Given the description of an element on the screen output the (x, y) to click on. 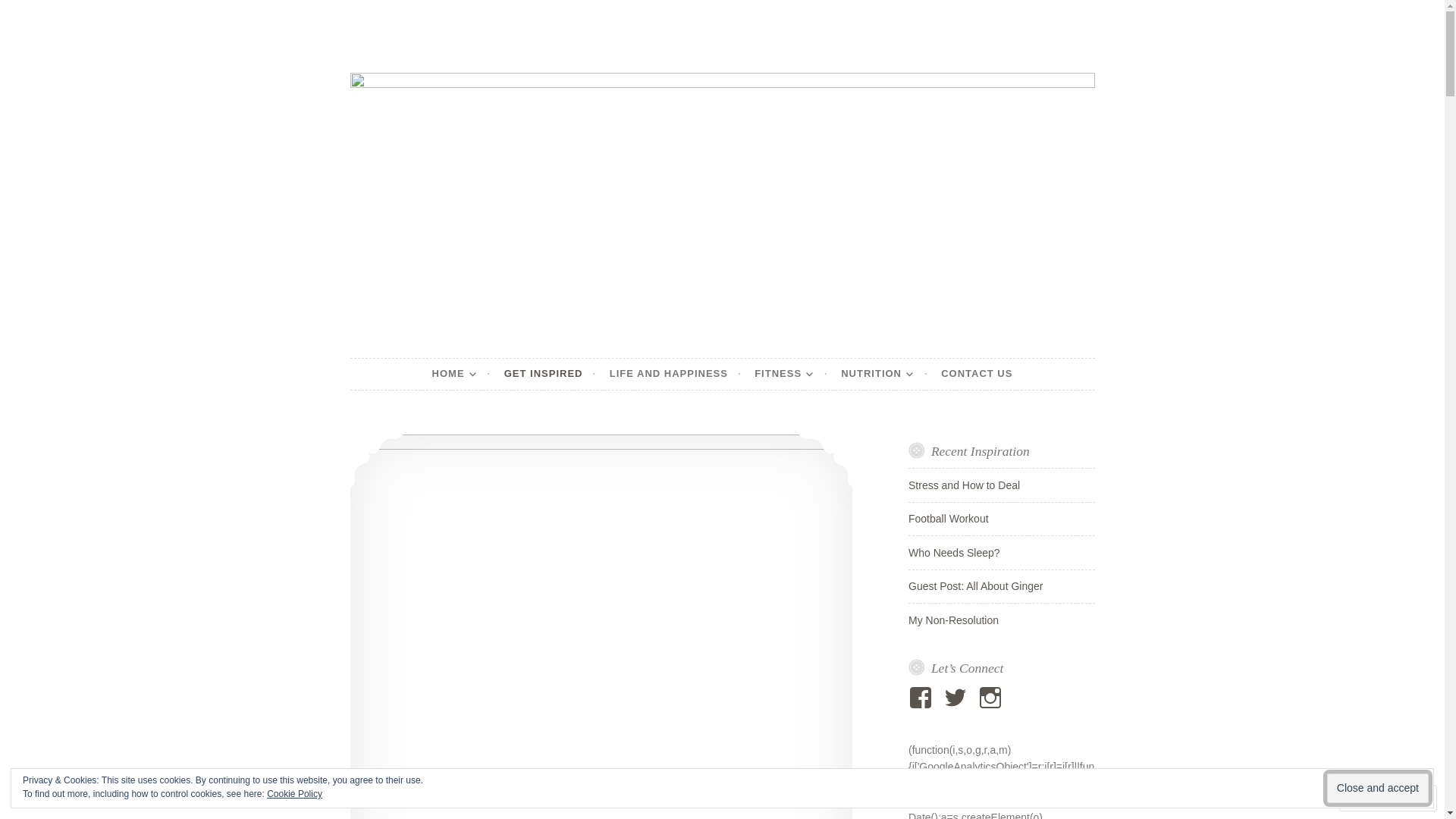
Guest Post: All About Ginger Element type: text (975, 586)
My Non-Resolution Element type: text (953, 620)
GET INSPIRED Element type: text (550, 373)
HOME Element type: text (461, 373)
Stress and How to Deal Element type: text (963, 485)
Football Workout Element type: text (948, 518)
CONTACT US Element type: text (976, 373)
LIFE AND HAPPINESS Element type: text (675, 373)
Cookie Policy Element type: text (294, 793)
Who Needs Sleep? Element type: text (954, 552)
Close and accept Element type: text (1377, 788)
Follow Element type: text (1373, 797)
FITNESS Element type: text (790, 373)
365 Healthy Choice Element type: text (501, 357)
NUTRITION Element type: text (883, 373)
